Given the description of an element on the screen output the (x, y) to click on. 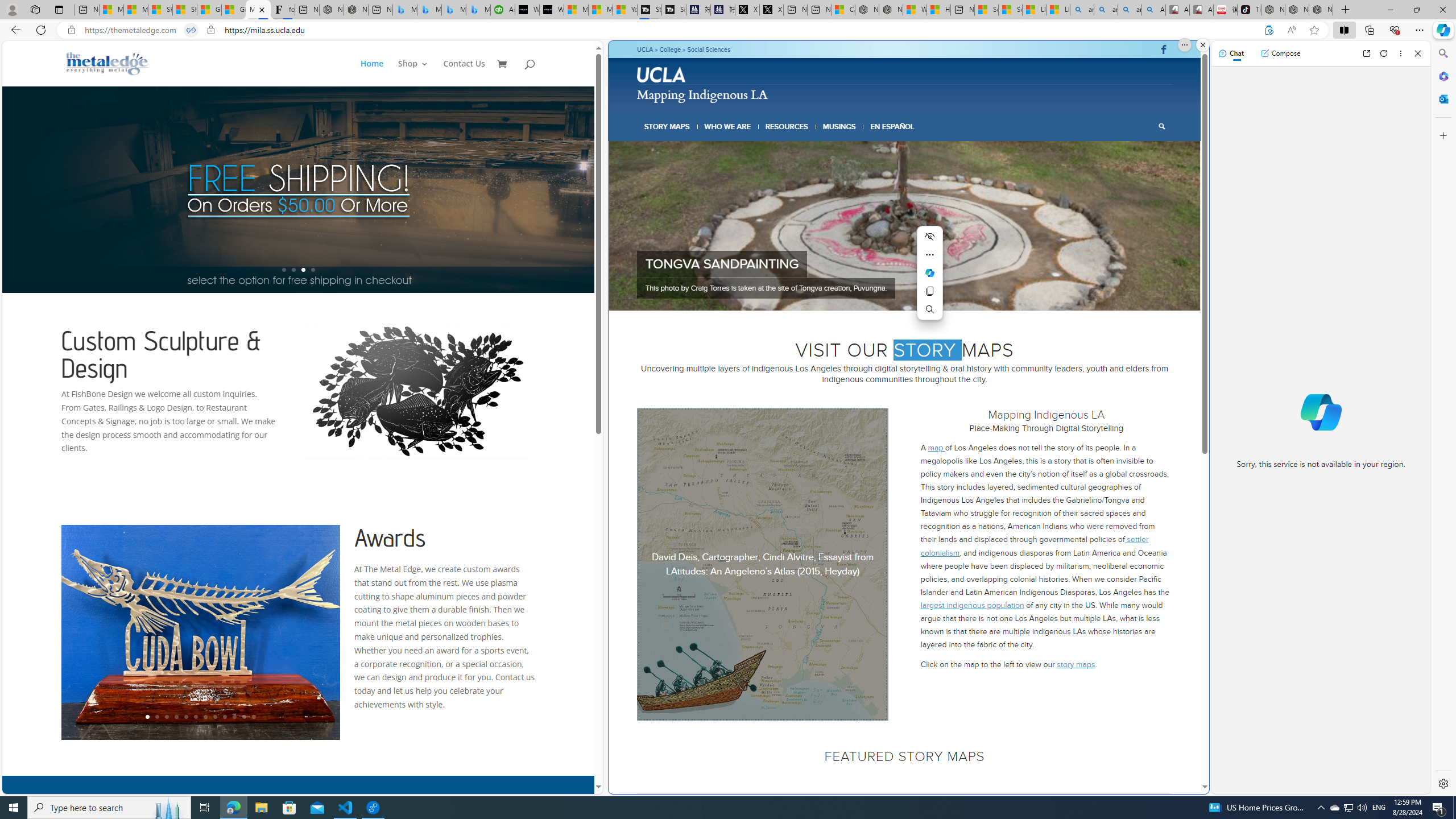
Amazon Echo Robot - Search Images (1153, 9)
RESOURCES (786, 126)
Ask Copilot (929, 272)
Link to Facebook (1163, 49)
Streaming Coverage | T3 (648, 9)
Hide menu (929, 236)
Outlook (1442, 98)
TikTok (1248, 9)
12 (253, 716)
More options. (1183, 45)
